Given the description of an element on the screen output the (x, y) to click on. 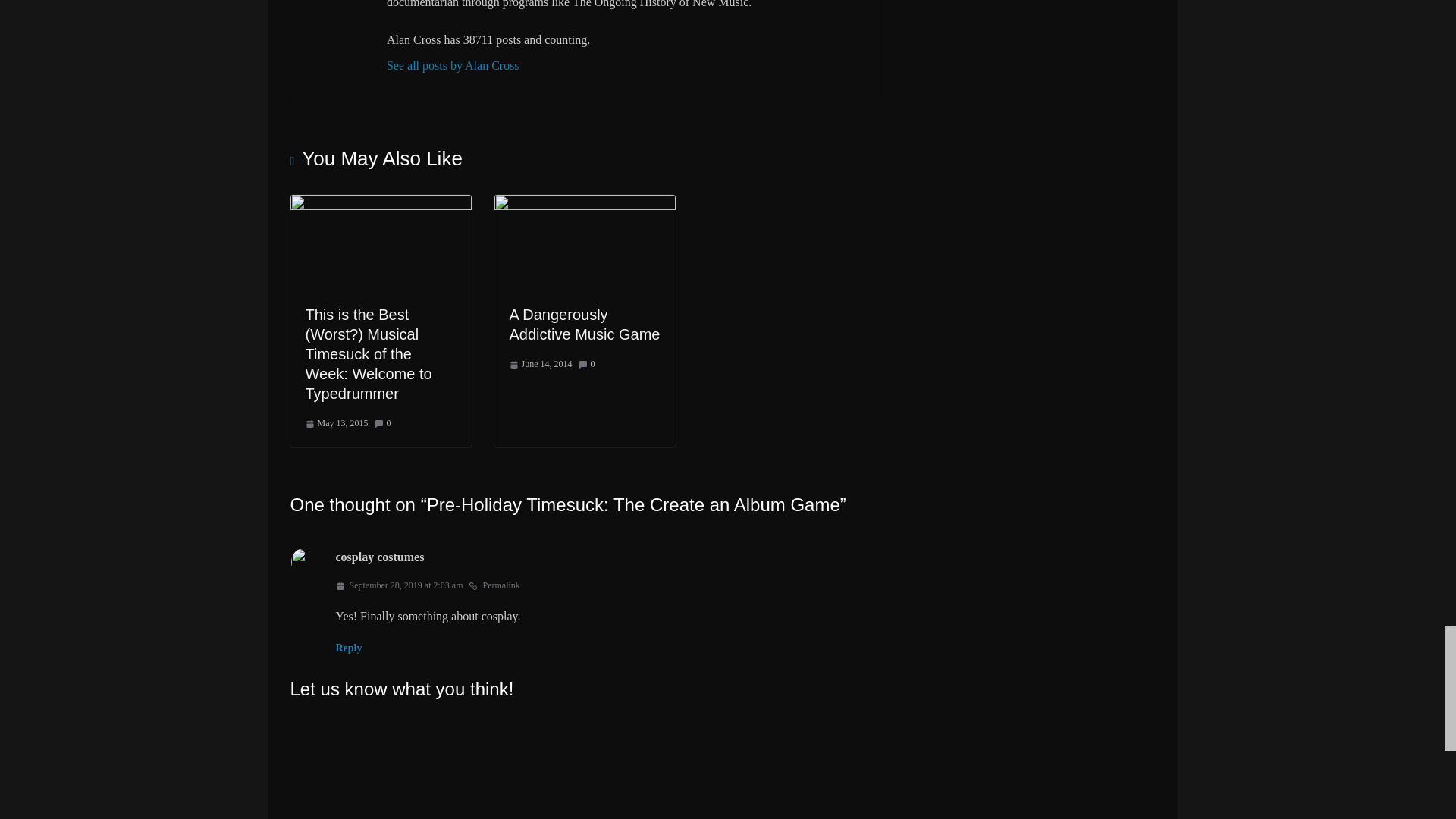
8:19 am (336, 423)
10:31 am (540, 364)
Comment Form (584, 762)
See all posts by Alan Cross (627, 65)
May 13, 2015 (336, 423)
A Dangerously Addictive Music Game (585, 324)
Permalink (493, 586)
A Dangerously Addictive Music Game (585, 324)
June 14, 2014 (540, 364)
A Dangerously Addictive Music Game (585, 205)
